Given the description of an element on the screen output the (x, y) to click on. 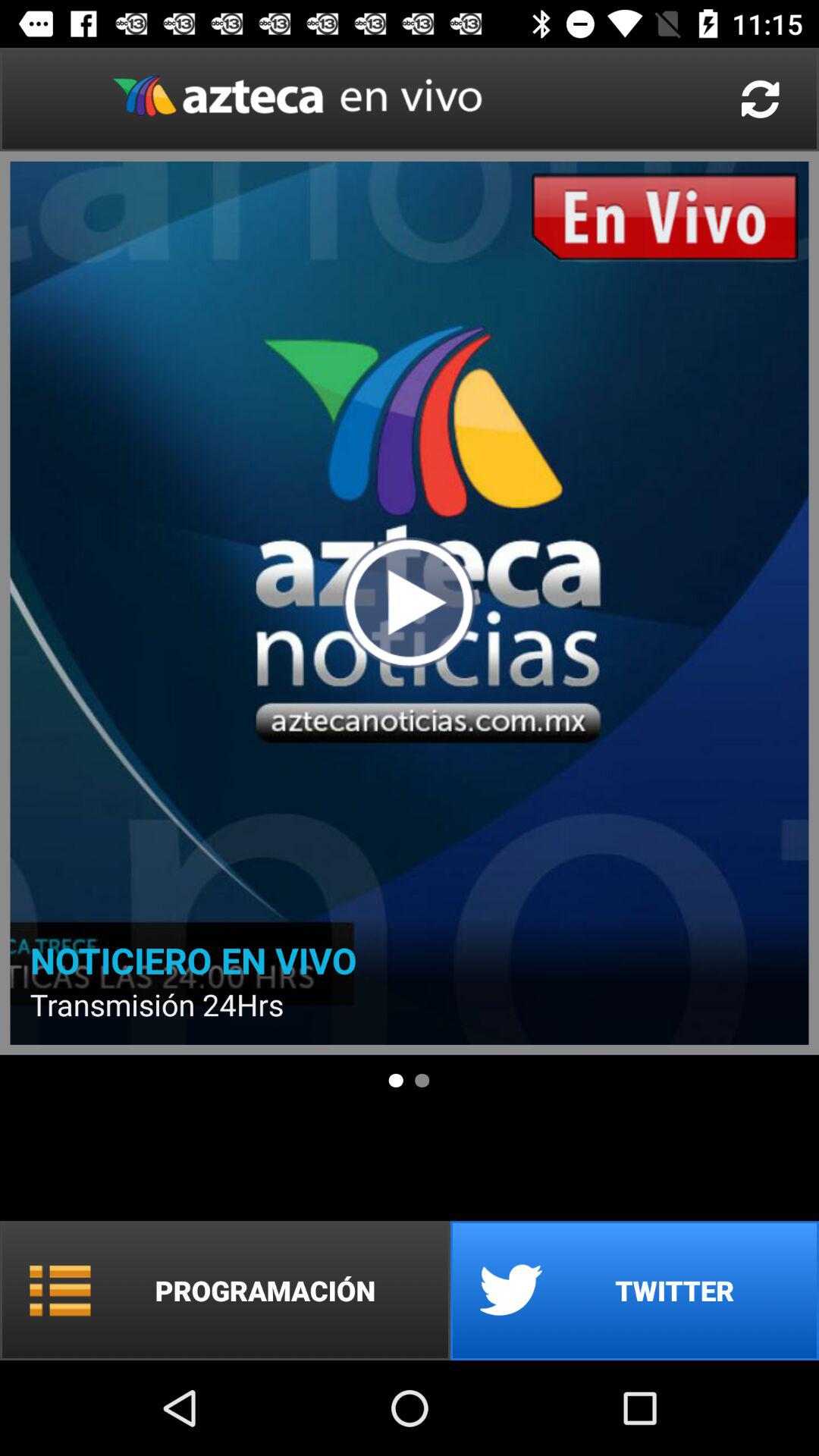
launch the button next to twitter icon (225, 1290)
